Given the description of an element on the screen output the (x, y) to click on. 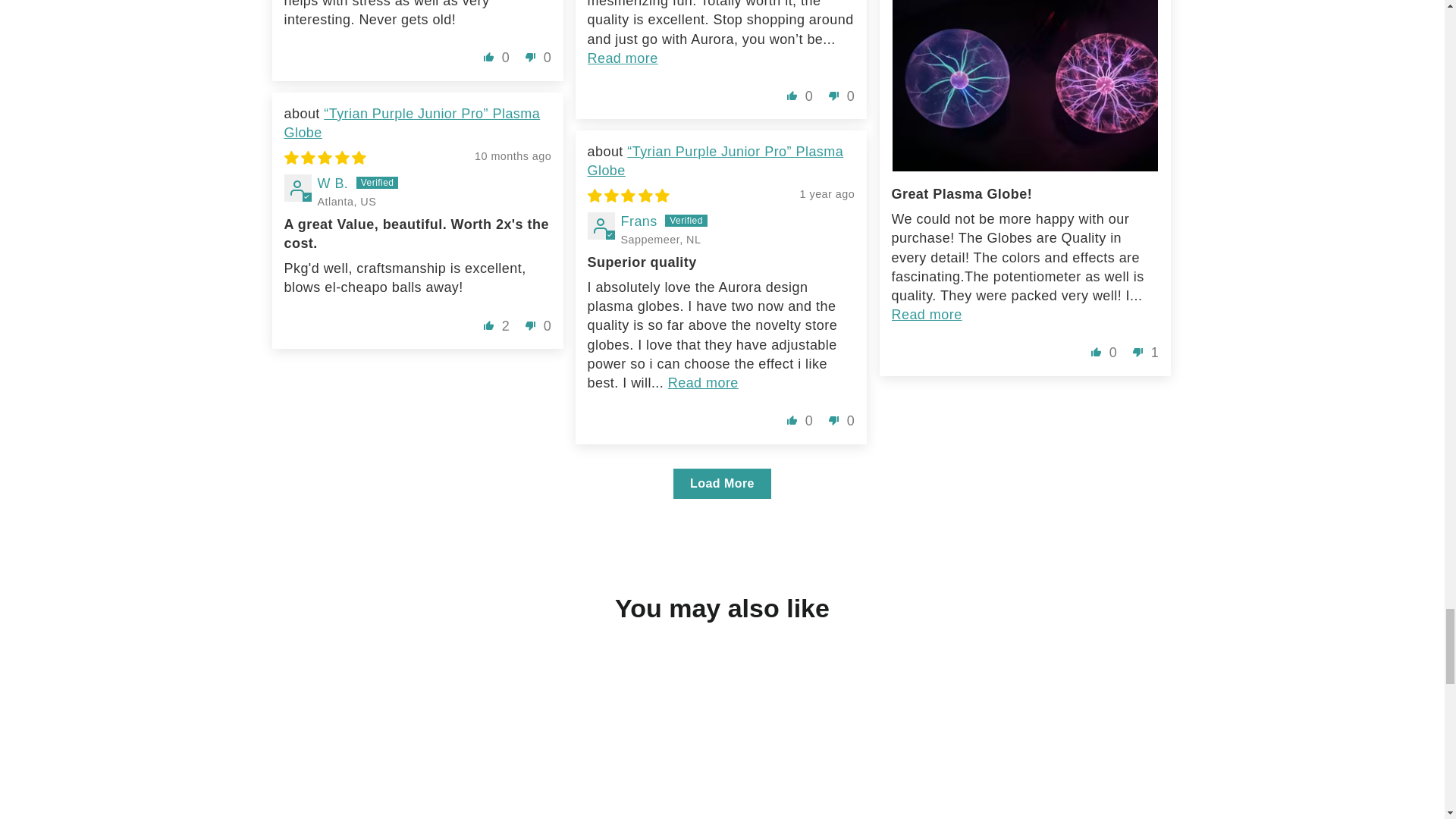
down (833, 95)
up (488, 56)
up (792, 95)
